Given the description of an element on the screen output the (x, y) to click on. 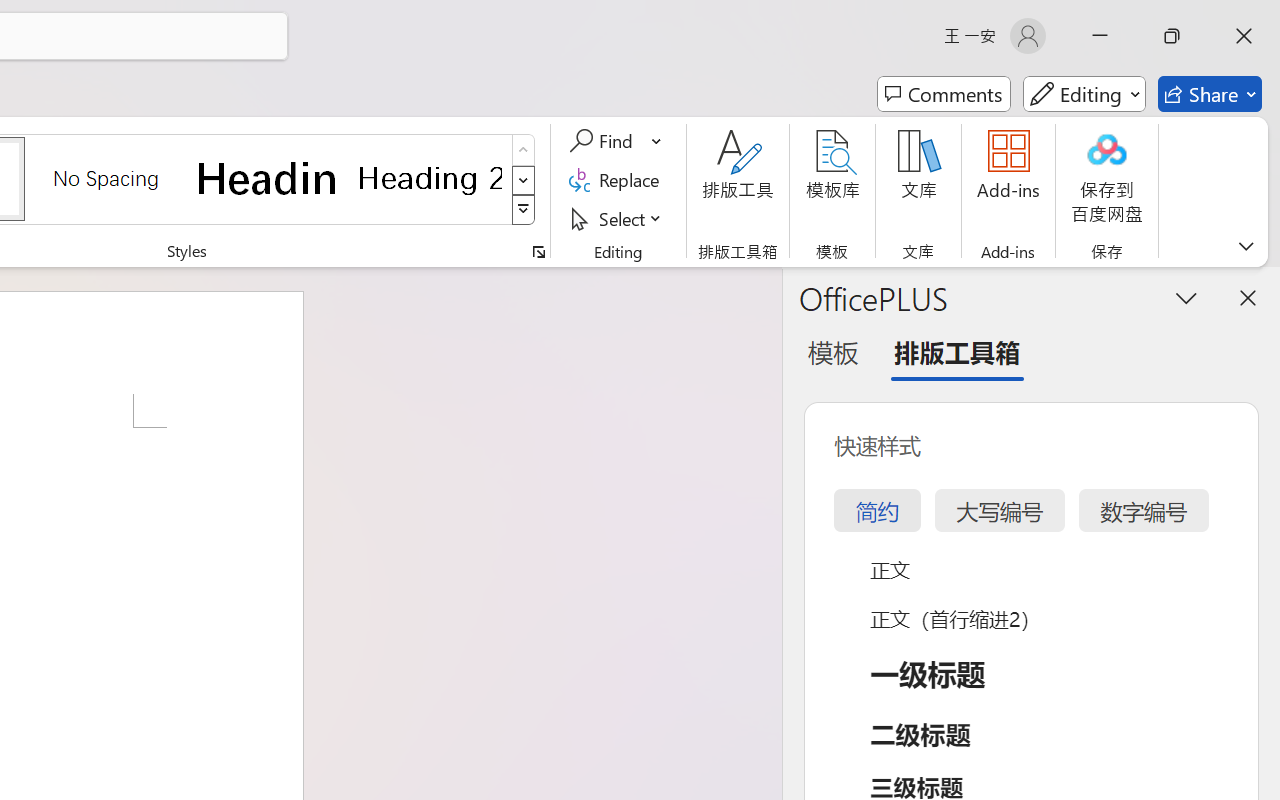
Task Pane Options (1186, 297)
